Given the description of an element on the screen output the (x, y) to click on. 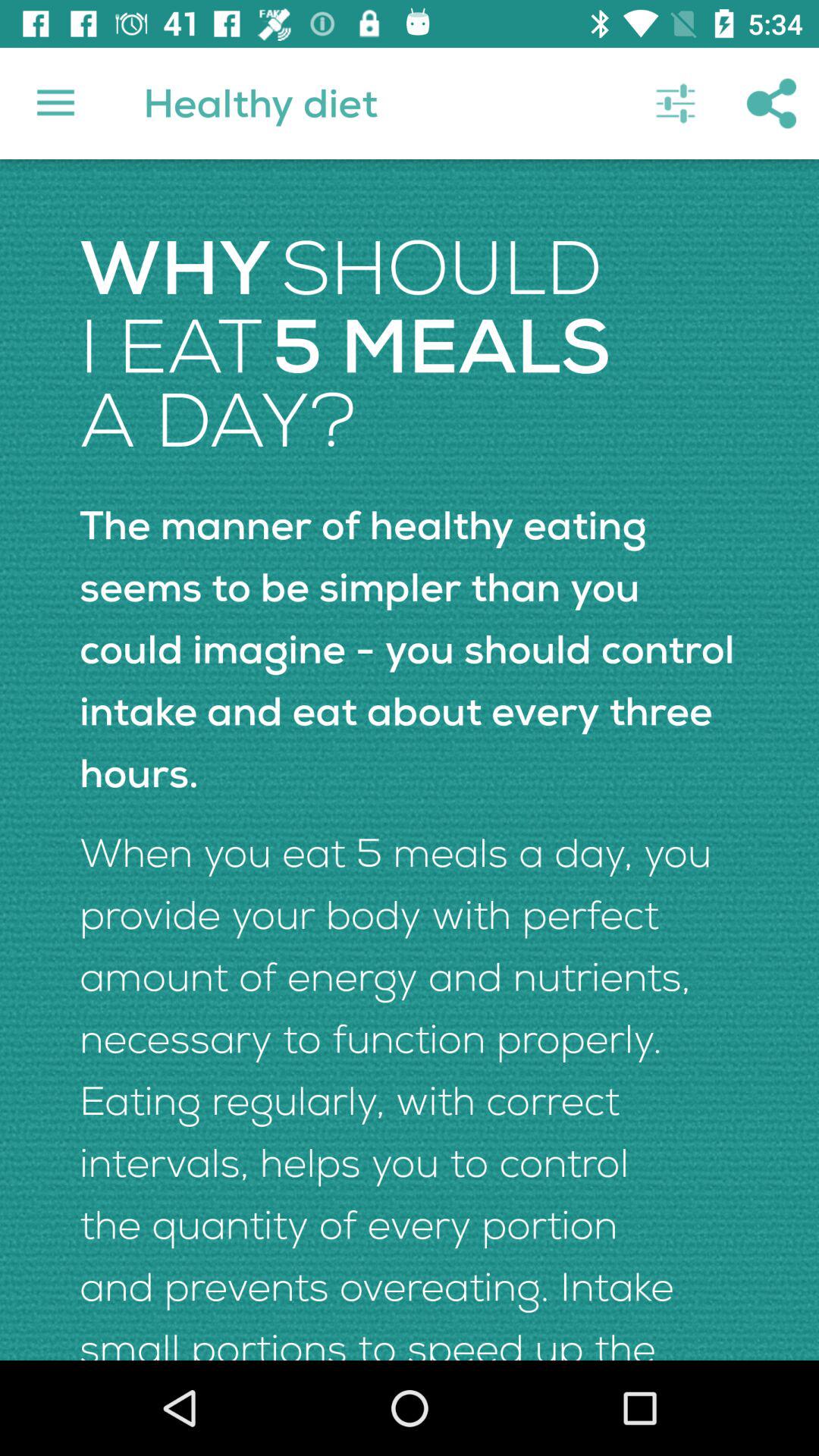
select icon to the right of the healthy diet item (675, 103)
